Given the description of an element on the screen output the (x, y) to click on. 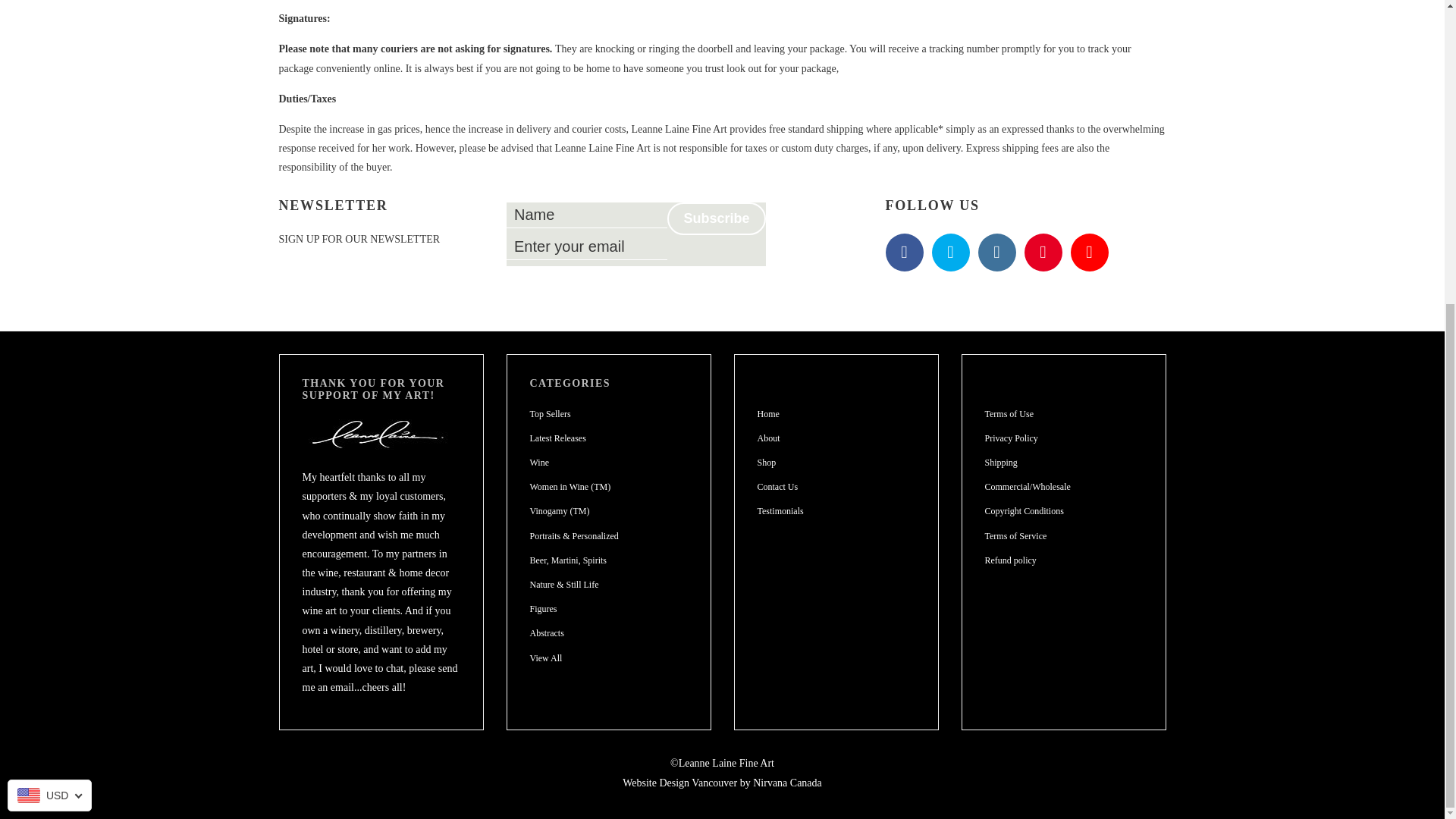
Latest Releases (557, 438)
my loyal customers (401, 496)
Top Sellers (549, 413)
